Given the description of an element on the screen output the (x, y) to click on. 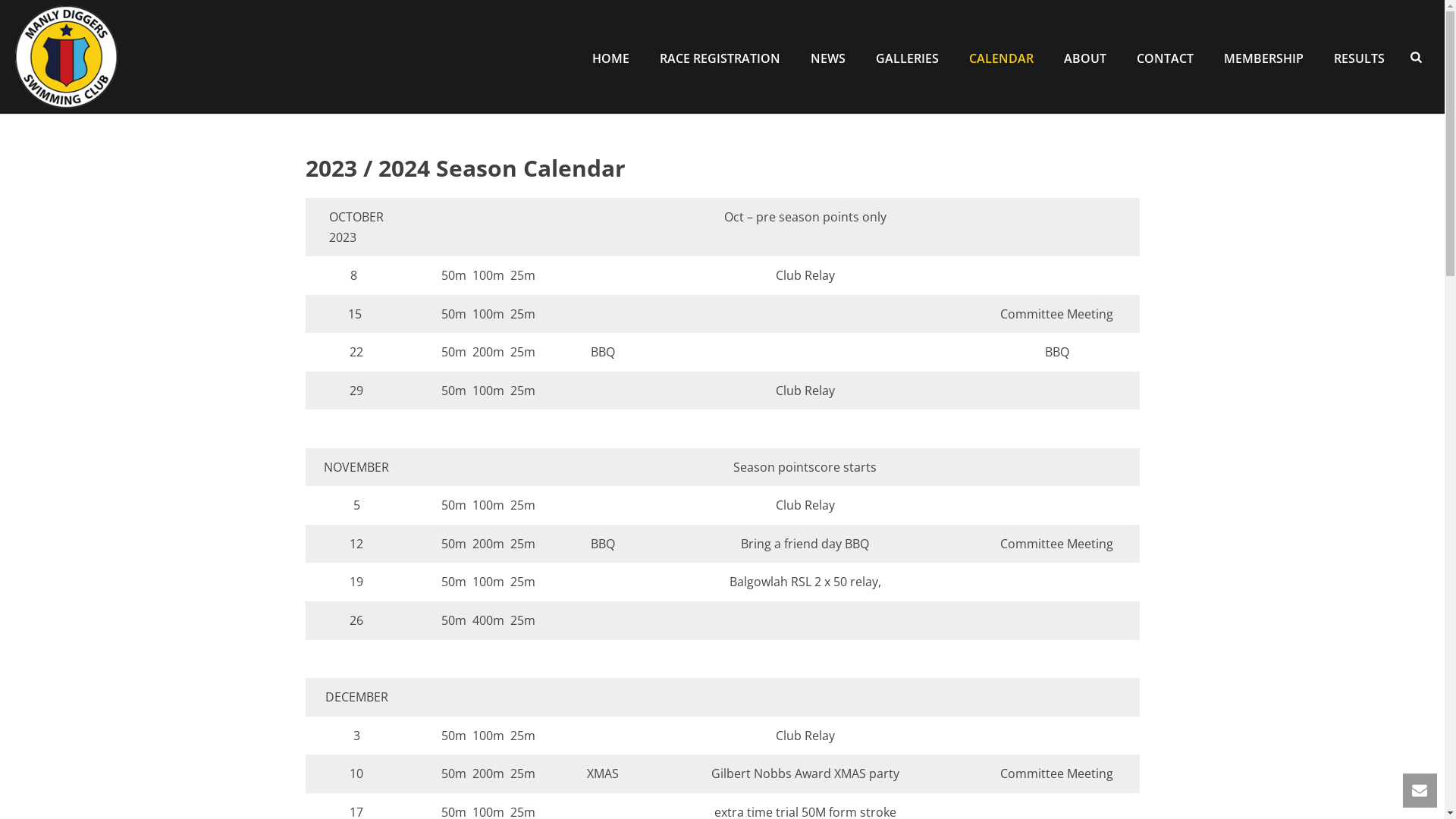
ABOUT Element type: text (1084, 56)
RESULTS Element type: text (1358, 56)
HOME Element type: text (610, 56)
RACE REGISTRATION Element type: text (719, 56)
CALENDAR Element type: text (1000, 56)
MEMBERSHIP Element type: text (1263, 56)
GALLERIES Element type: text (906, 56)
NEWS Element type: text (827, 56)
CONTACT Element type: text (1164, 56)
